Given the description of an element on the screen output the (x, y) to click on. 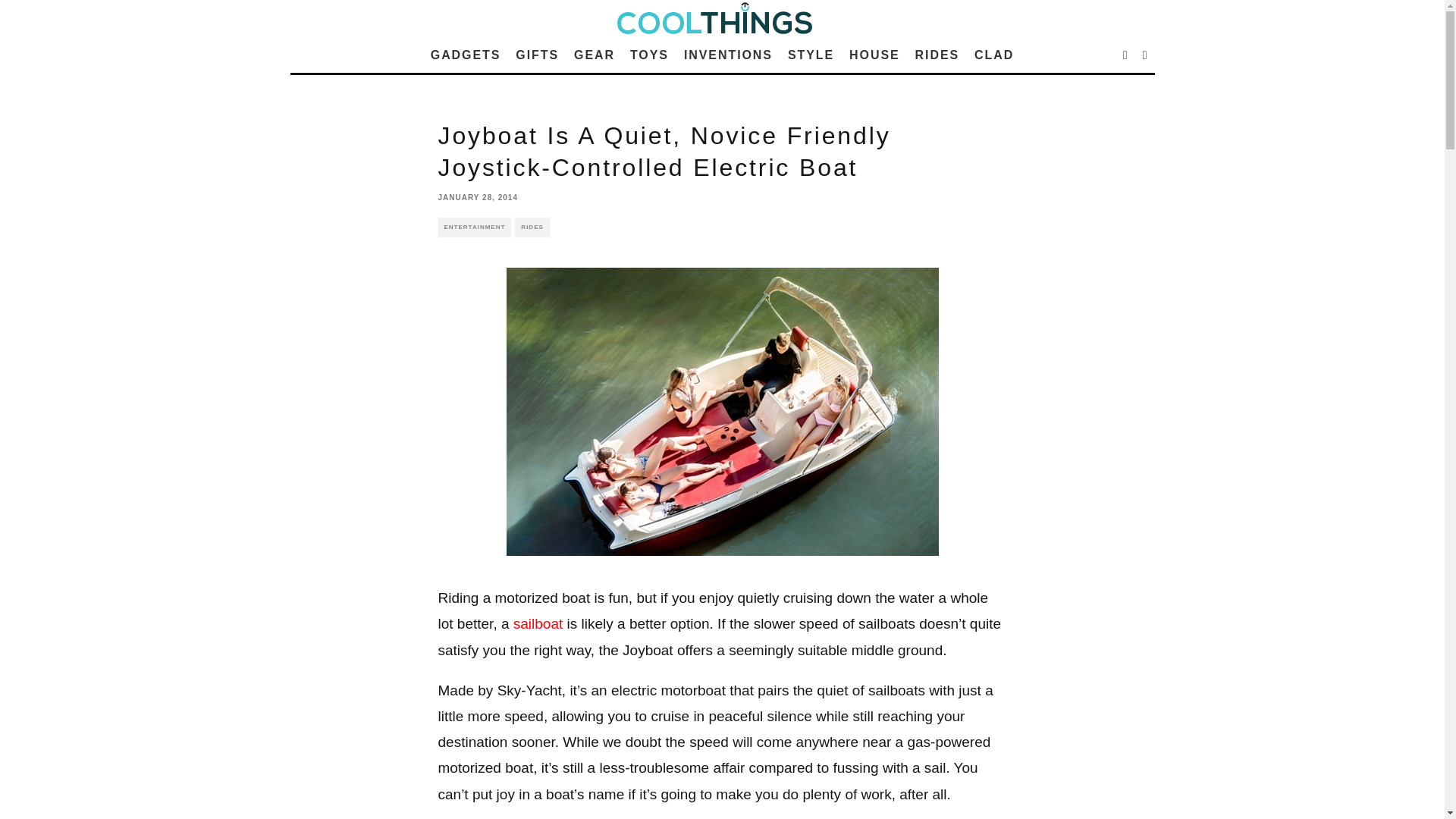
STYLE (810, 54)
GADGETS (465, 54)
INVENTIONS (728, 54)
GEAR (594, 54)
GIFTS (537, 54)
TOYS (650, 54)
